Given the description of an element on the screen output the (x, y) to click on. 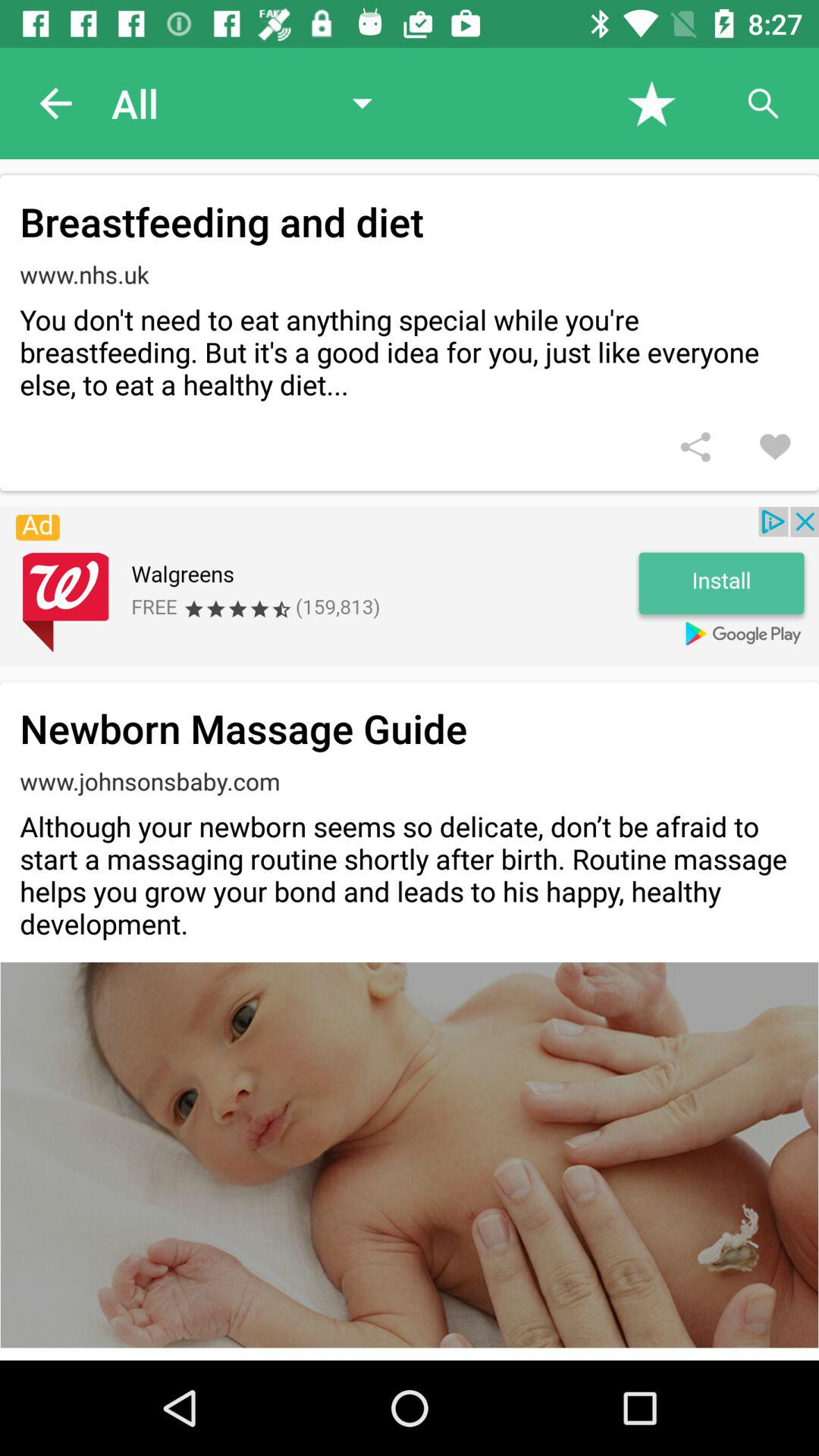
click star icon (651, 103)
